Given the description of an element on the screen output the (x, y) to click on. 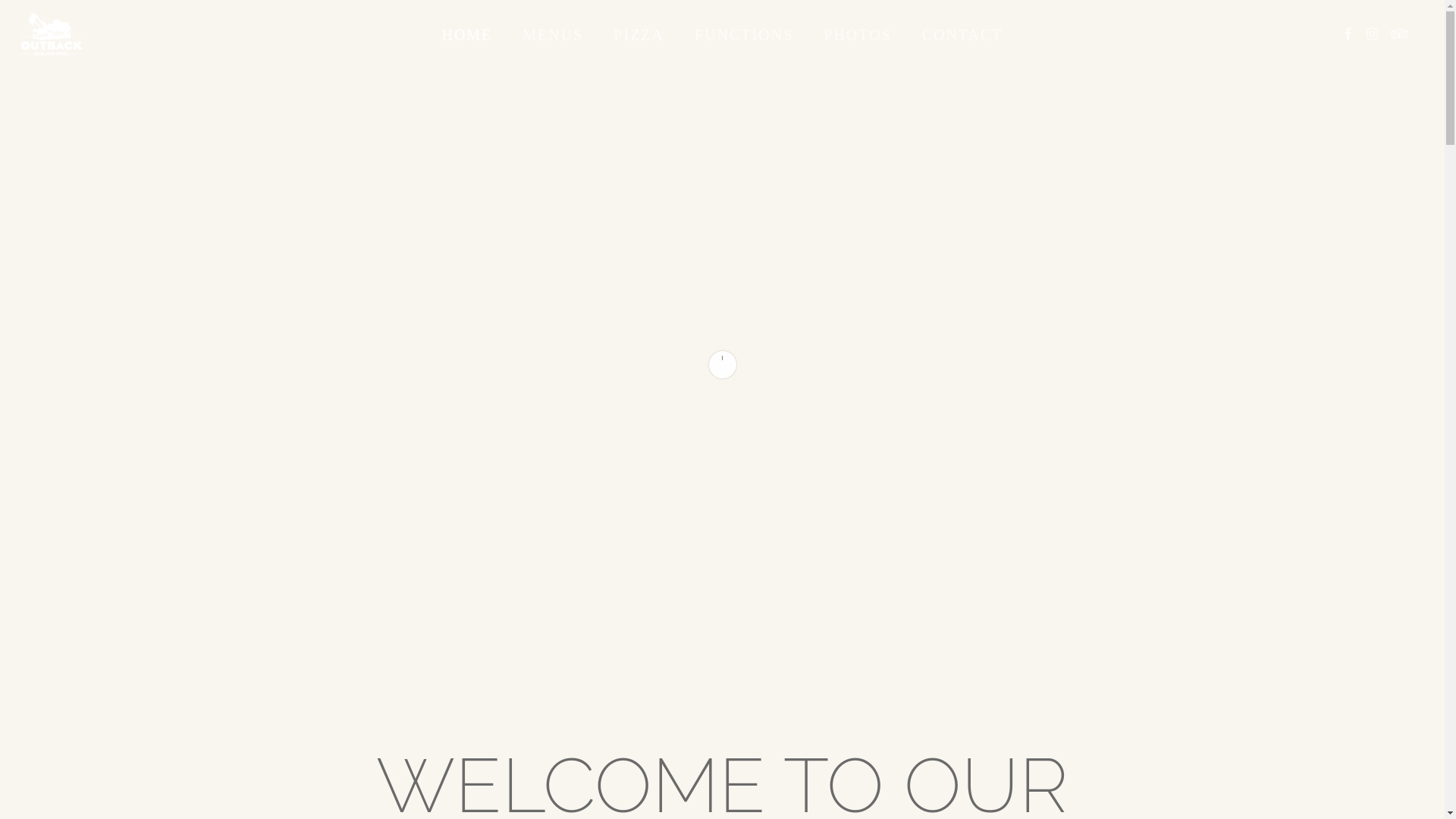
PHOTOS Element type: text (857, 34)
CONTACT Element type: text (962, 34)
HOME Element type: text (466, 34)
PIZZA Element type: text (638, 34)
INSTAGRAM Element type: text (1372, 34)
FACEBOOK Element type: text (1347, 34)
MENUS Element type: text (552, 34)
FUNCTIONS Element type: text (743, 34)
TRIPADVISOR Element type: text (1399, 34)
